Given the description of an element on the screen output the (x, y) to click on. 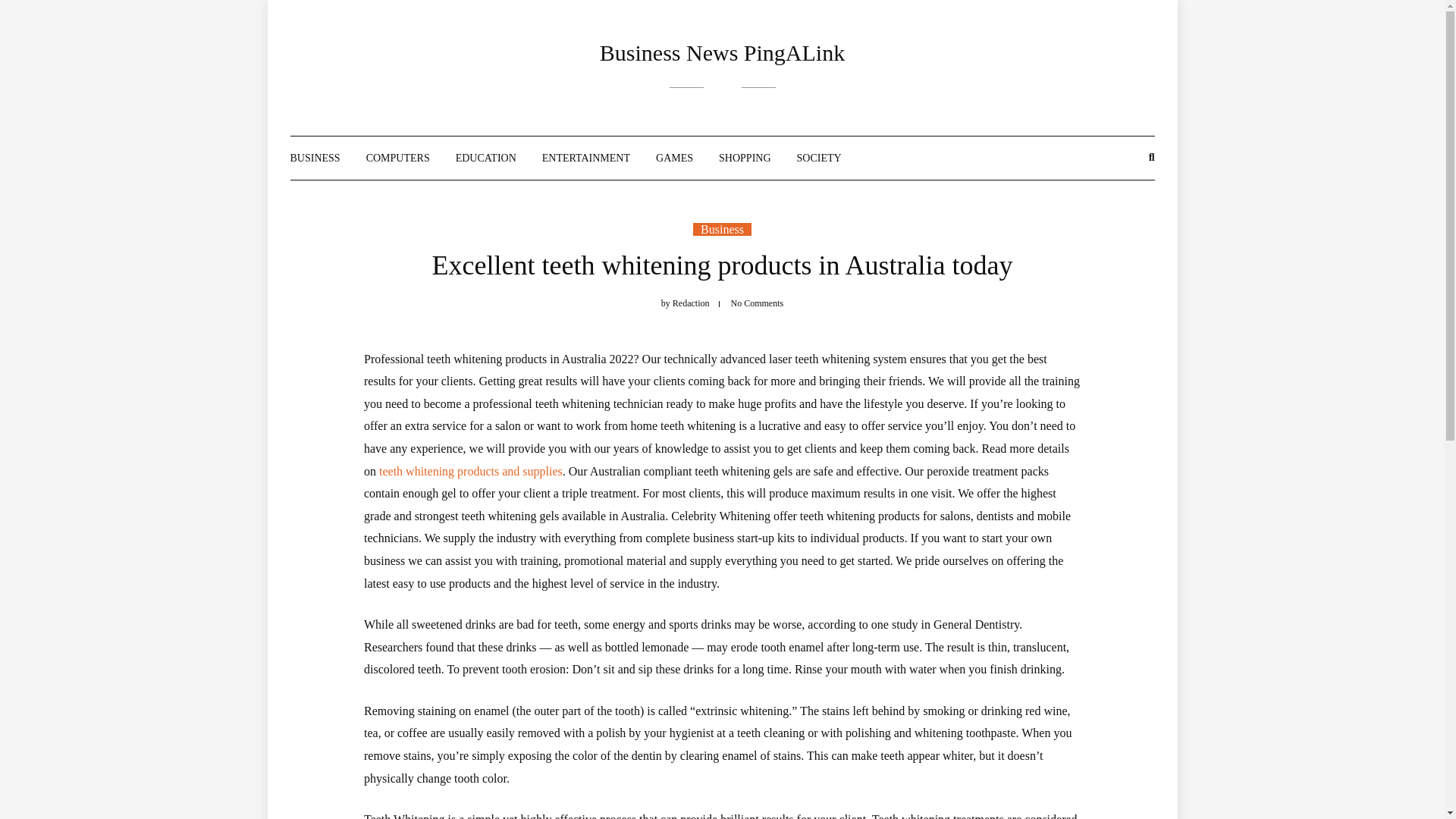
SHOPPING (744, 158)
ENTERTAINMENT (585, 158)
BUSINESS (314, 158)
teeth whitening products and supplies (470, 471)
Business (722, 228)
SOCIETY (818, 158)
COMPUTERS (397, 158)
EDUCATION (485, 158)
Business News PingALink (721, 52)
